Given the description of an element on the screen output the (x, y) to click on. 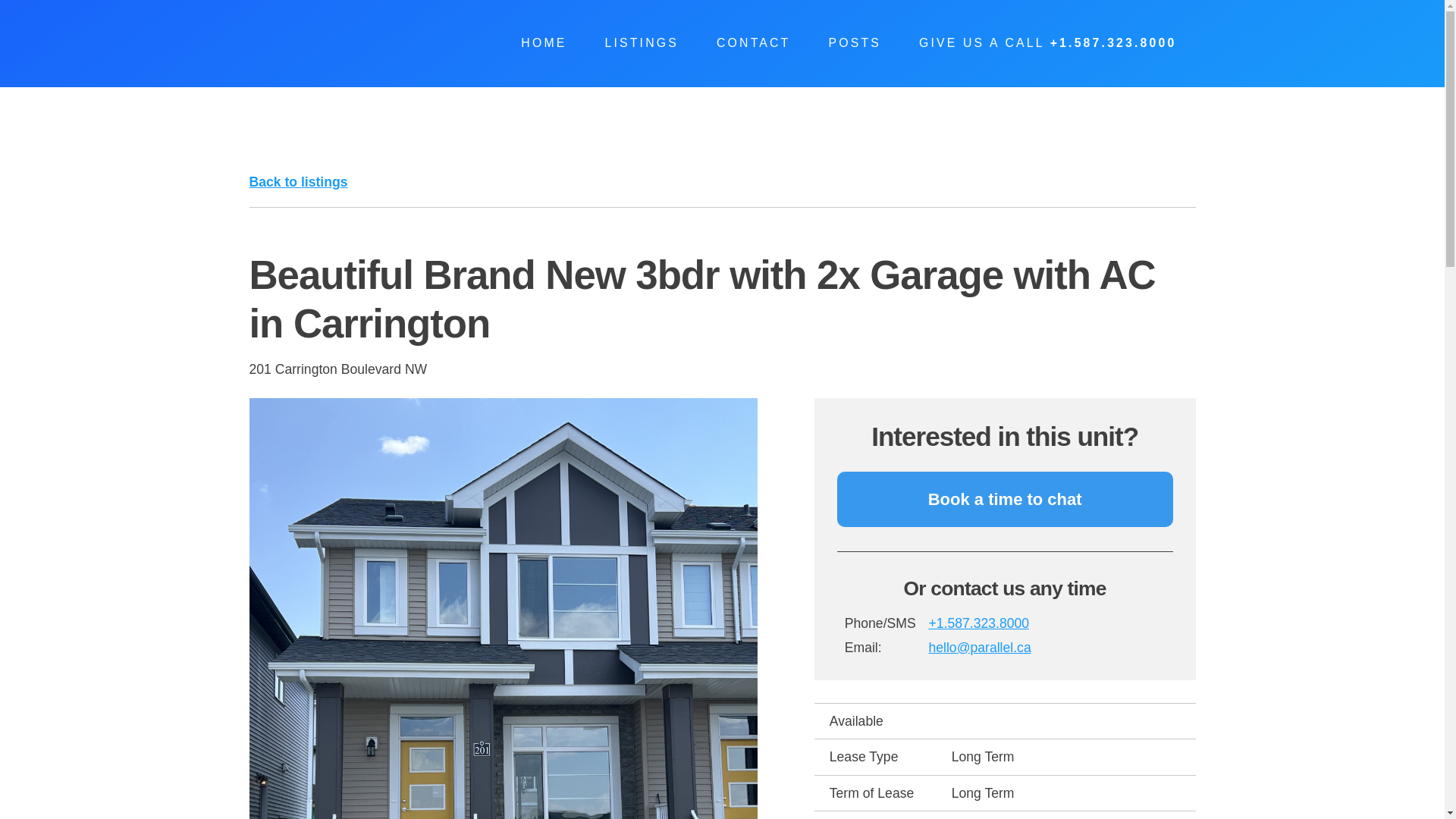
HOME (543, 43)
POSTS (854, 43)
CONTACT (753, 43)
LISTINGS (641, 43)
Back to listings (297, 181)
Book a time to chat (1005, 499)
